Given the description of an element on the screen output the (x, y) to click on. 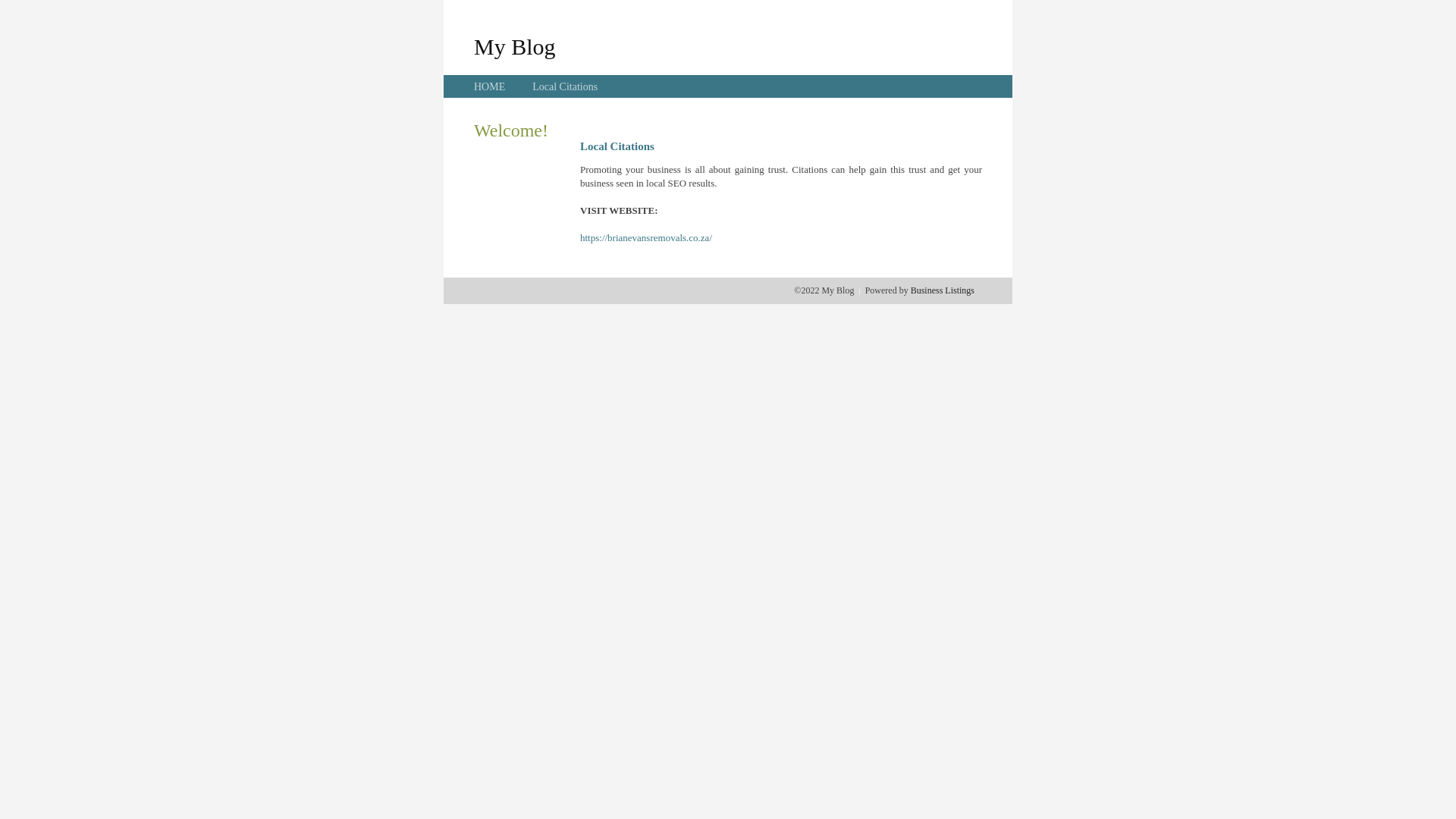
https://brianevansremovals.co.za/ Element type: text (646, 237)
Business Listings Element type: text (942, 290)
Local Citations Element type: text (564, 86)
HOME Element type: text (489, 86)
My Blog Element type: text (514, 46)
